Given the description of an element on the screen output the (x, y) to click on. 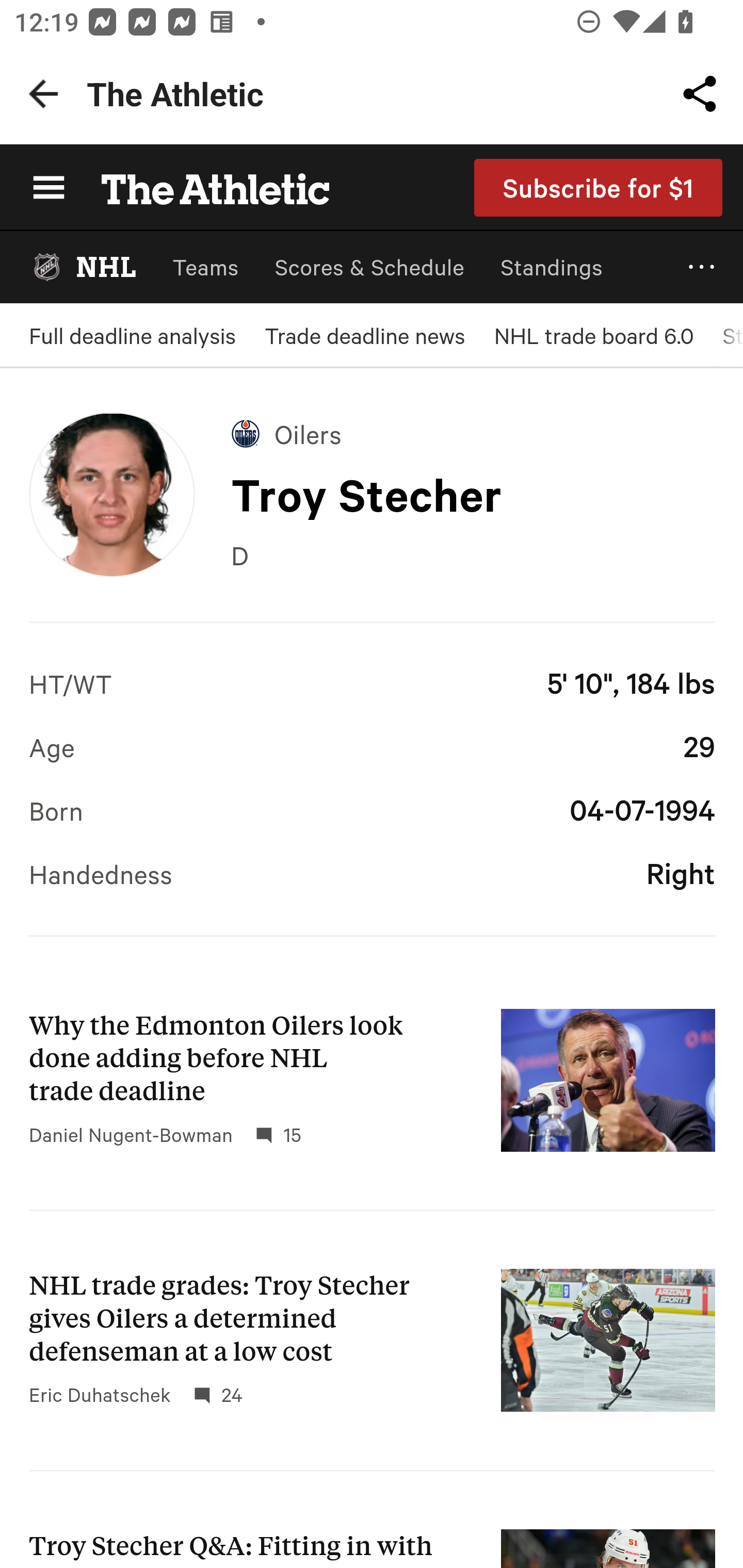
The Athletic (204, 187)
Subscribe for $1 (598, 187)
NHL NHL NHL NHL (82, 267)
Teams (205, 267)
Scores & Schedule (369, 267)
Standings (552, 267)
• • • (701, 267)
Full deadline analysis (132, 335)
Trade deadline news (364, 335)
NHL trade board 6.0 (593, 335)
T. Stecher (111, 494)
Oilers logo Oilers Oilers logo Oilers (287, 433)
Live News (371, 663)
Premier League (371, 743)
Champions League (371, 821)
Euro 2024 (371, 901)
